Given the description of an element on the screen output the (x, y) to click on. 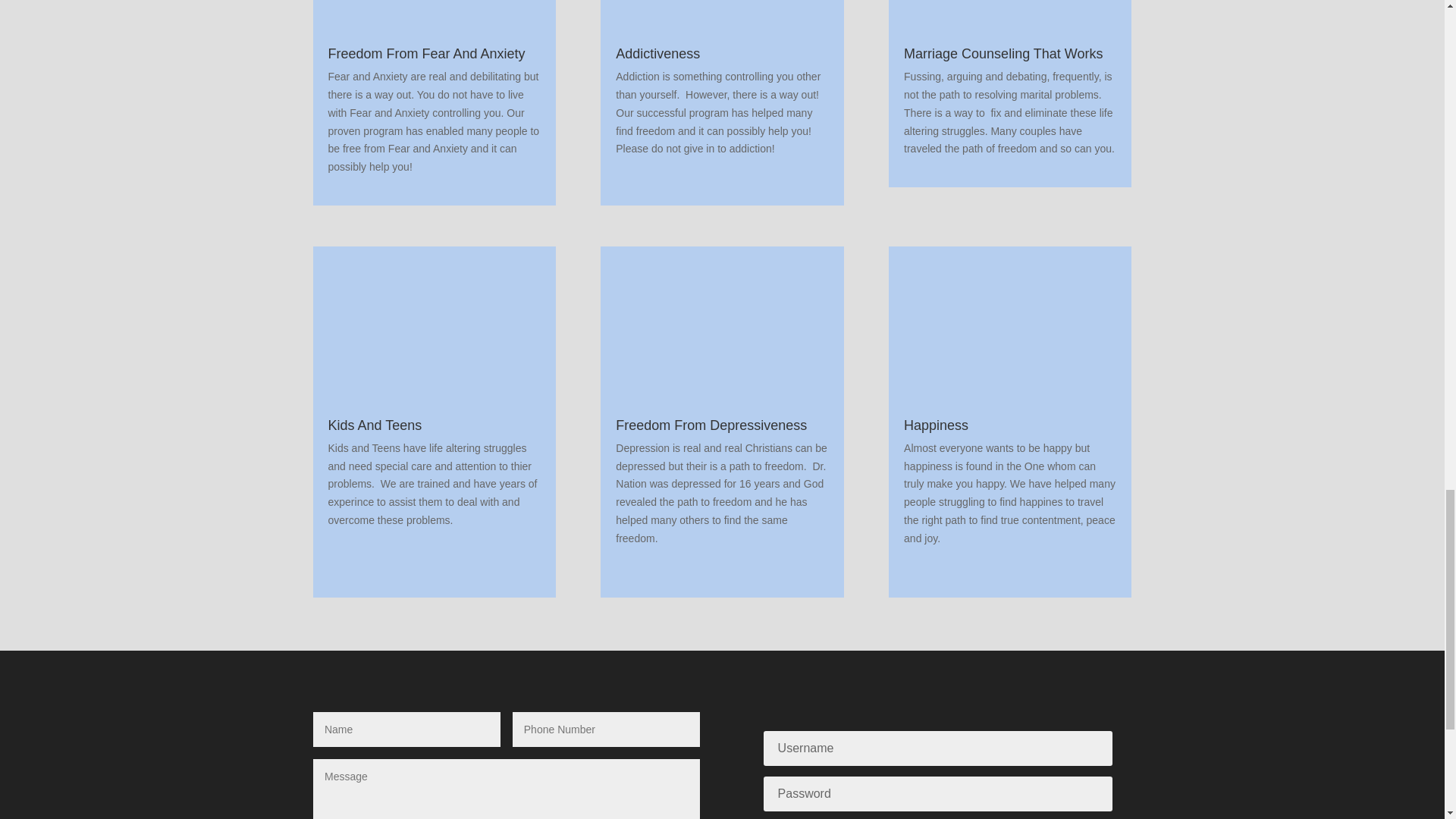
Only numbers allowed. (606, 728)
